Given the description of an element on the screen output the (x, y) to click on. 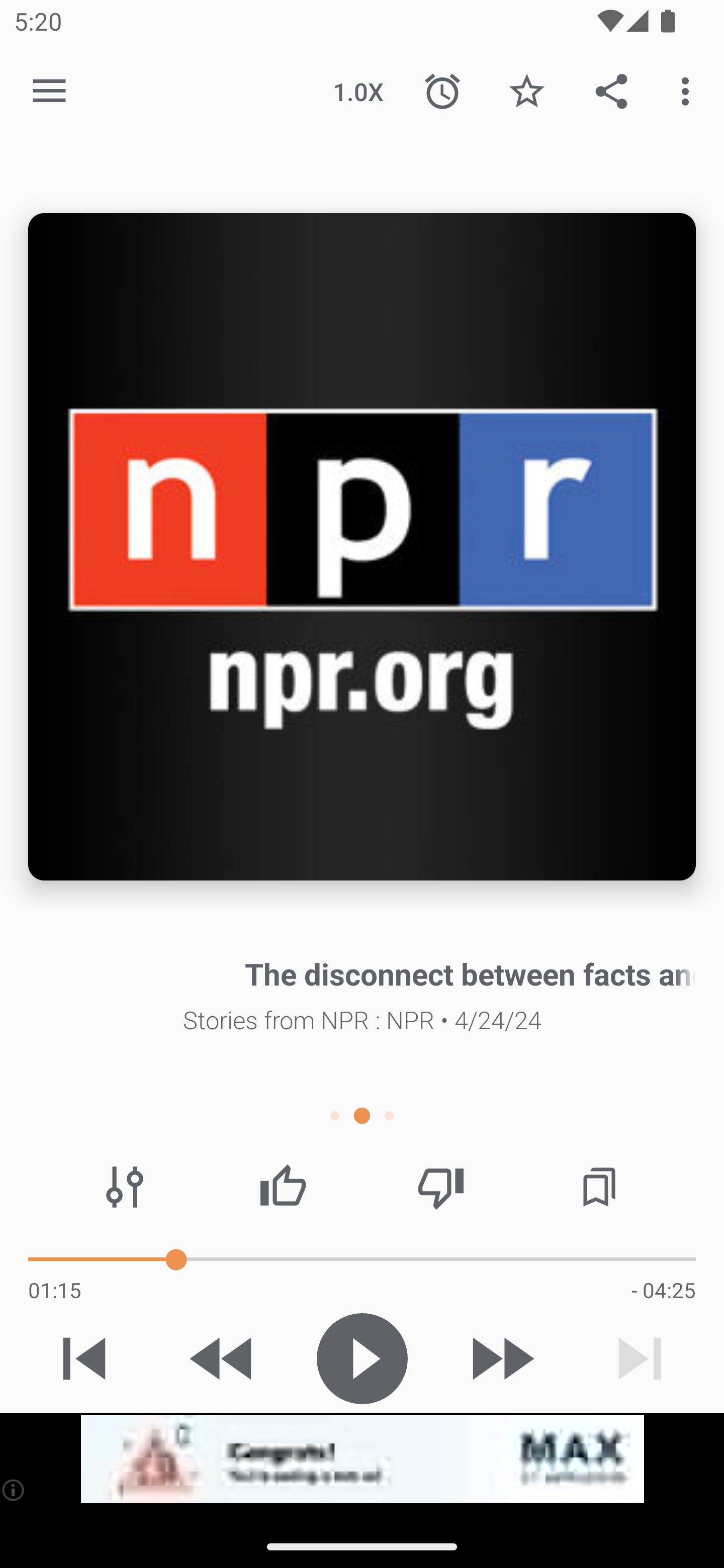
Open navigation sidebar (49, 91)
1.0X (357, 90)
Sleep Timer (442, 90)
Favorite (526, 90)
Share (611, 90)
More options (688, 90)
Episode description (361, 547)
Audio effects (124, 1186)
Thumbs up (283, 1186)
Thumbs down (440, 1186)
Chapters / Bookmarks (598, 1186)
- 04:25 (663, 1289)
Previous track (84, 1358)
Skip 15s backward (222, 1358)
Play / Pause (362, 1358)
Skip 30s forward (500, 1358)
Next track (639, 1358)
app-monetization (362, 1459)
(i) (14, 1489)
